Given the description of an element on the screen output the (x, y) to click on. 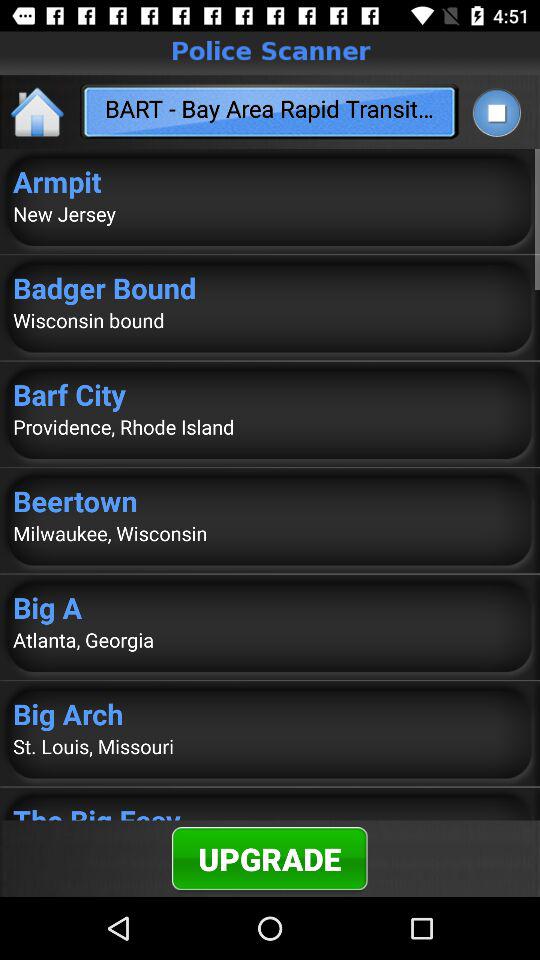
tap the app next to bart bay area app (38, 111)
